Given the description of an element on the screen output the (x, y) to click on. 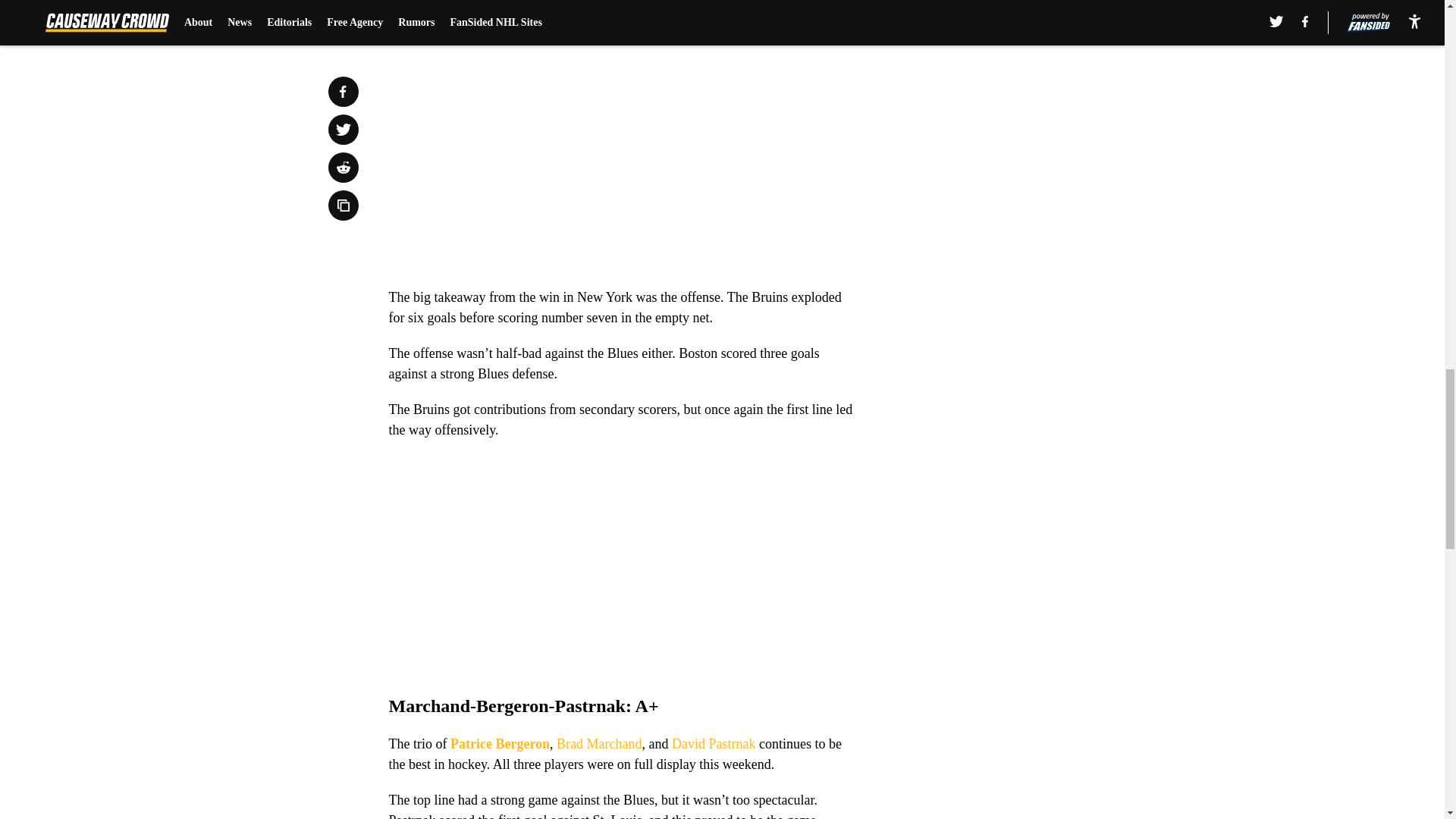
David Pastrnak (713, 743)
Brad Marchand (599, 743)
Patrice Bergeron (499, 743)
